Given the description of an element on the screen output the (x, y) to click on. 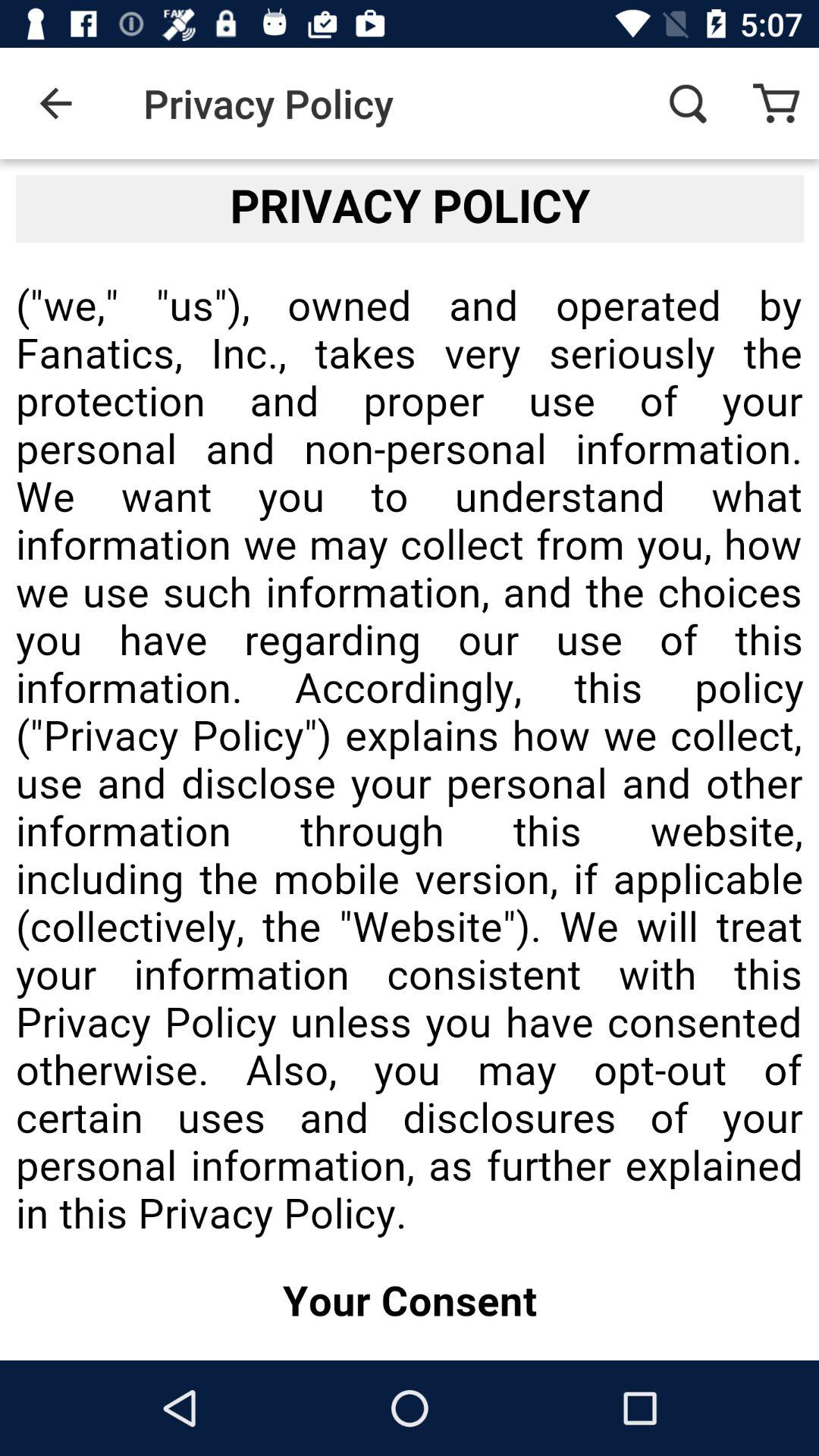
open the icon to the left of the privacy policy item (55, 103)
